Given the description of an element on the screen output the (x, y) to click on. 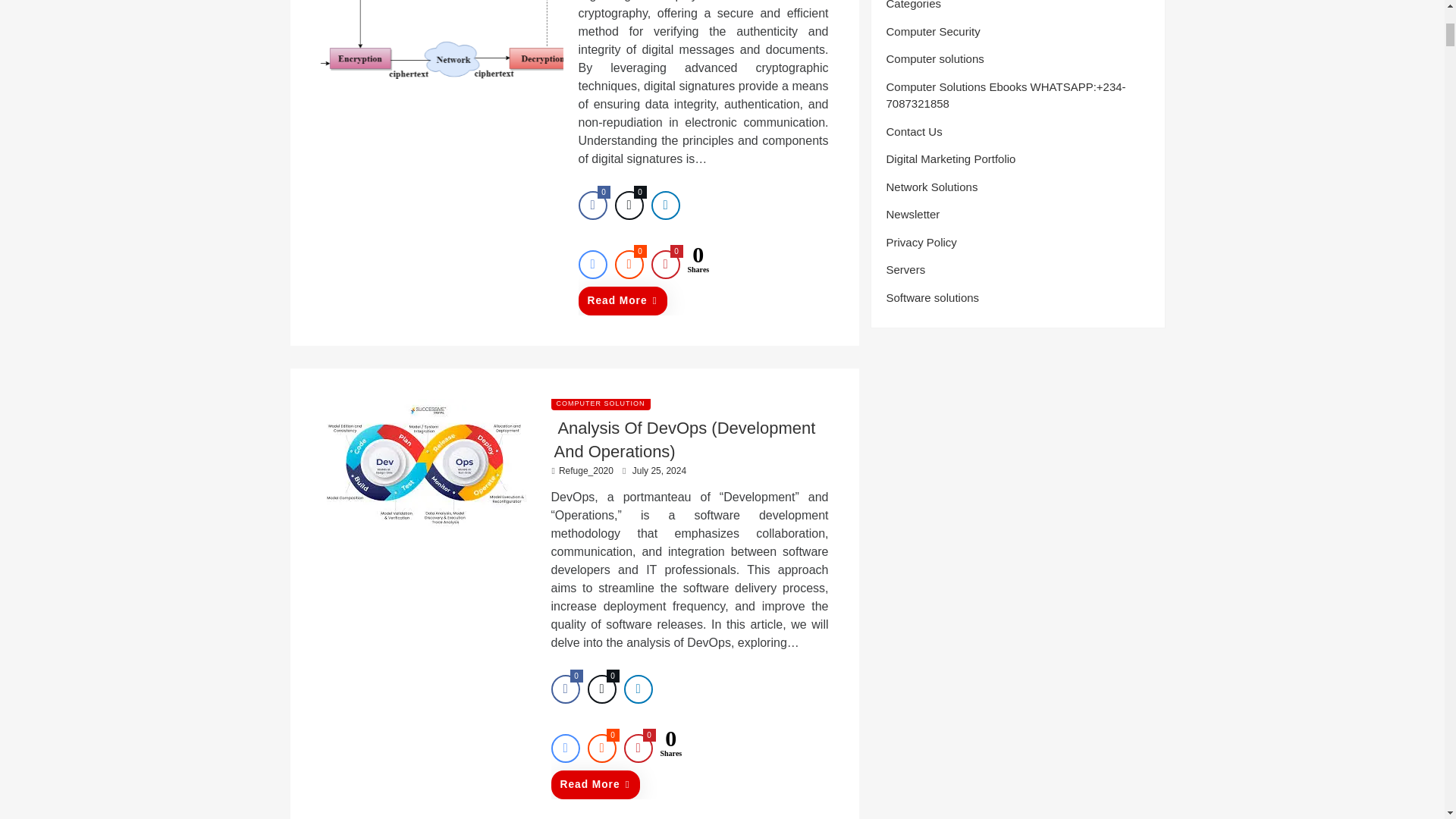
What Is A Digital Signature In Cryptography 2 (441, 39)
